Given the description of an element on the screen output the (x, y) to click on. 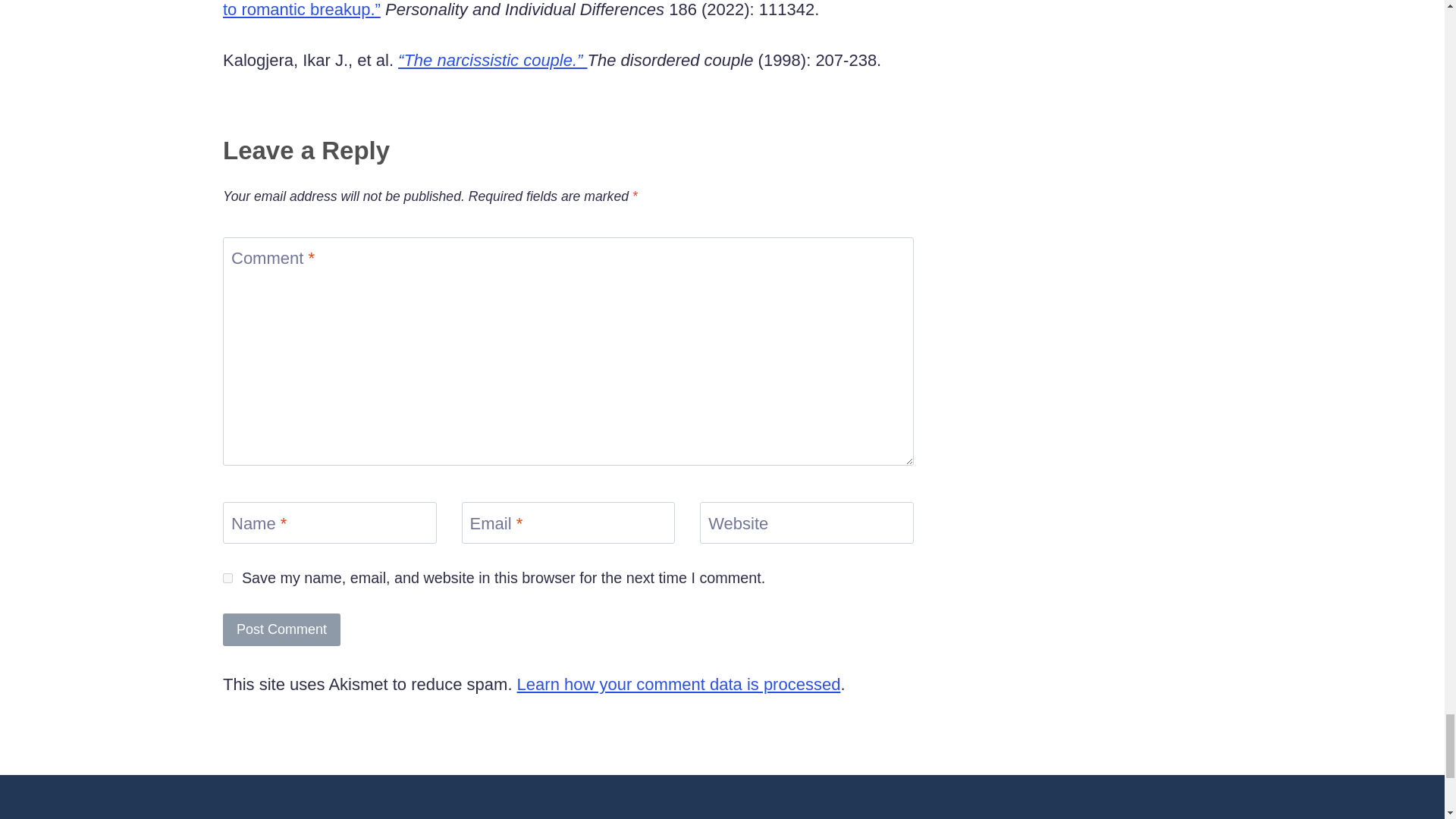
Post Comment (281, 629)
Post Comment (281, 629)
yes (227, 578)
Learn how your comment data is processed (678, 683)
